Given the description of an element on the screen output the (x, y) to click on. 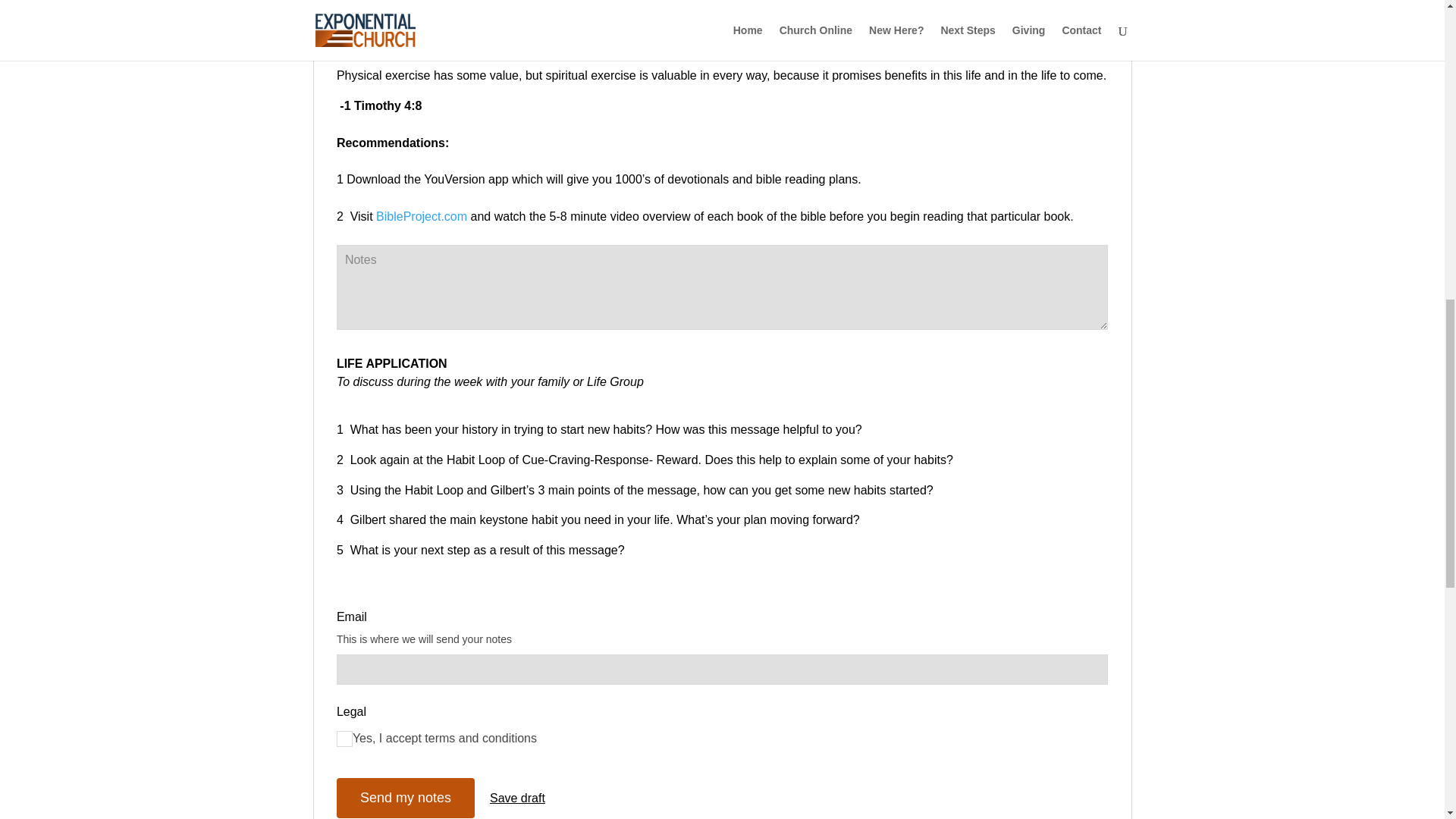
Save draft (516, 798)
BibleProject.com (421, 215)
Send my notes (405, 798)
